Given the description of an element on the screen output the (x, y) to click on. 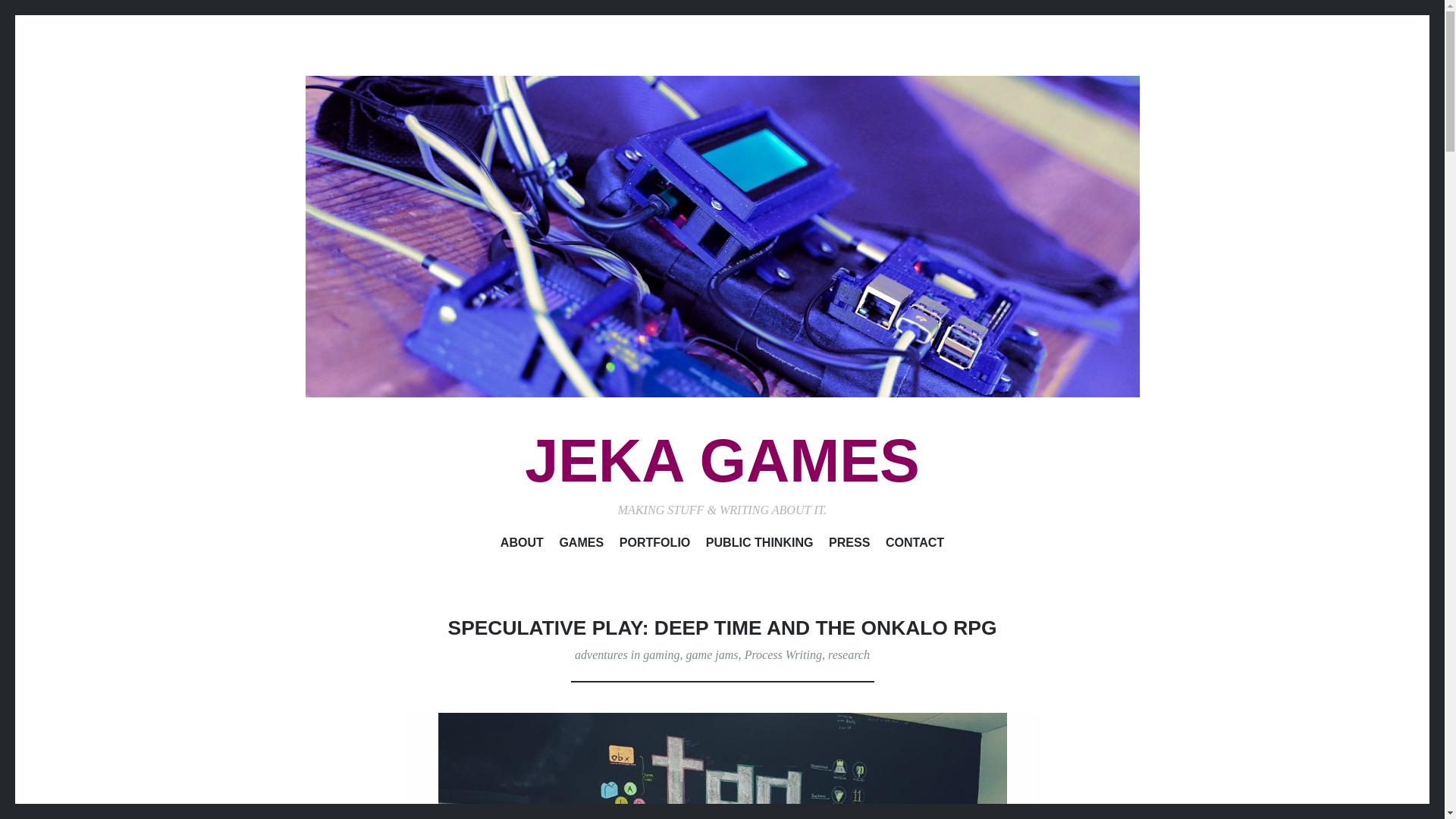
game jams (711, 654)
research (848, 654)
ABOUT (521, 545)
CONTACT (914, 545)
adventures in gaming (627, 654)
Process Writing (783, 654)
PRESS (848, 545)
GAMES (581, 545)
PUBLIC THINKING (759, 545)
